Given the description of an element on the screen output the (x, y) to click on. 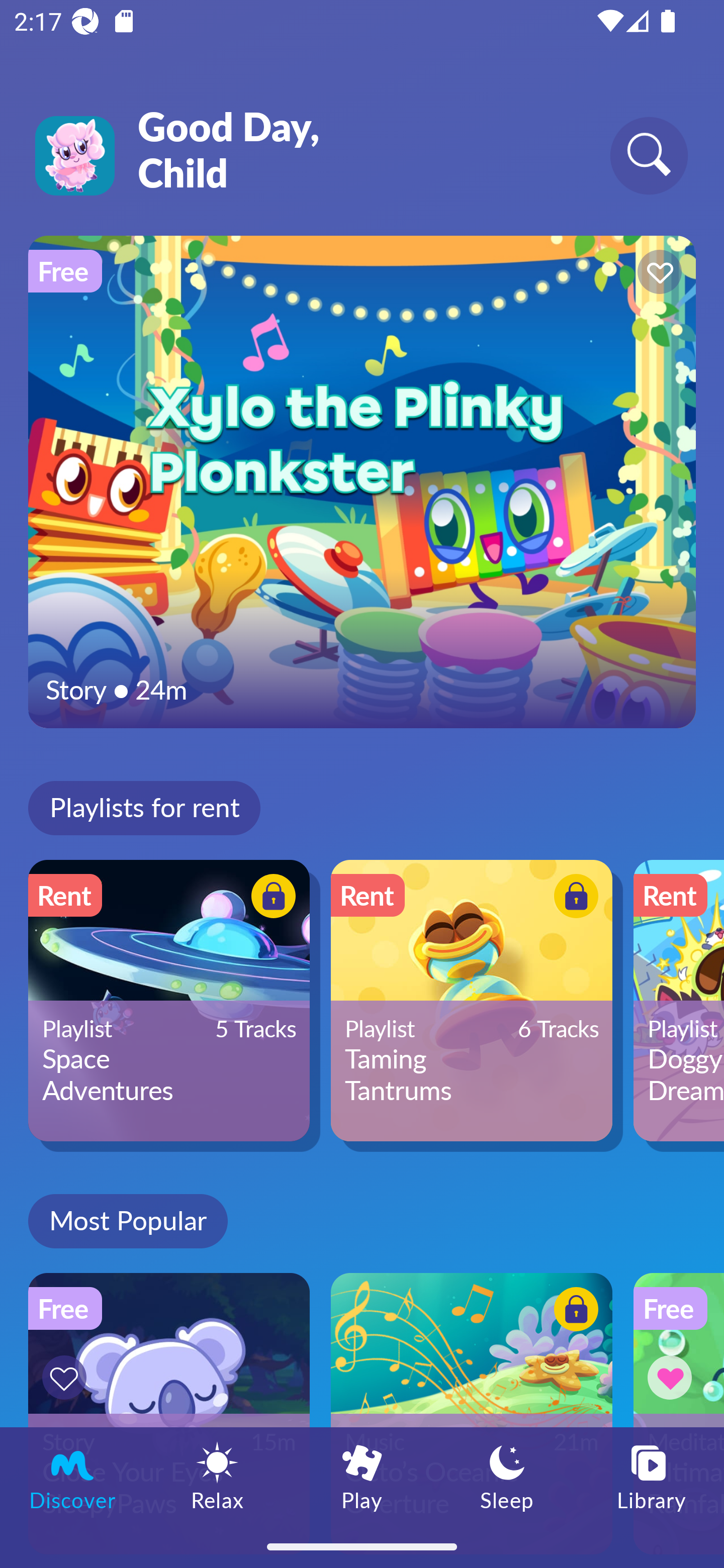
Search (648, 154)
Featured Content Free Button Story ● 24m (361, 481)
Button (656, 274)
Button (269, 898)
Button (573, 898)
Button (573, 1312)
Button (67, 1377)
Button (672, 1377)
Relax (216, 1475)
Play (361, 1475)
Sleep (506, 1475)
Library (651, 1475)
